Given the description of an element on the screen output the (x, y) to click on. 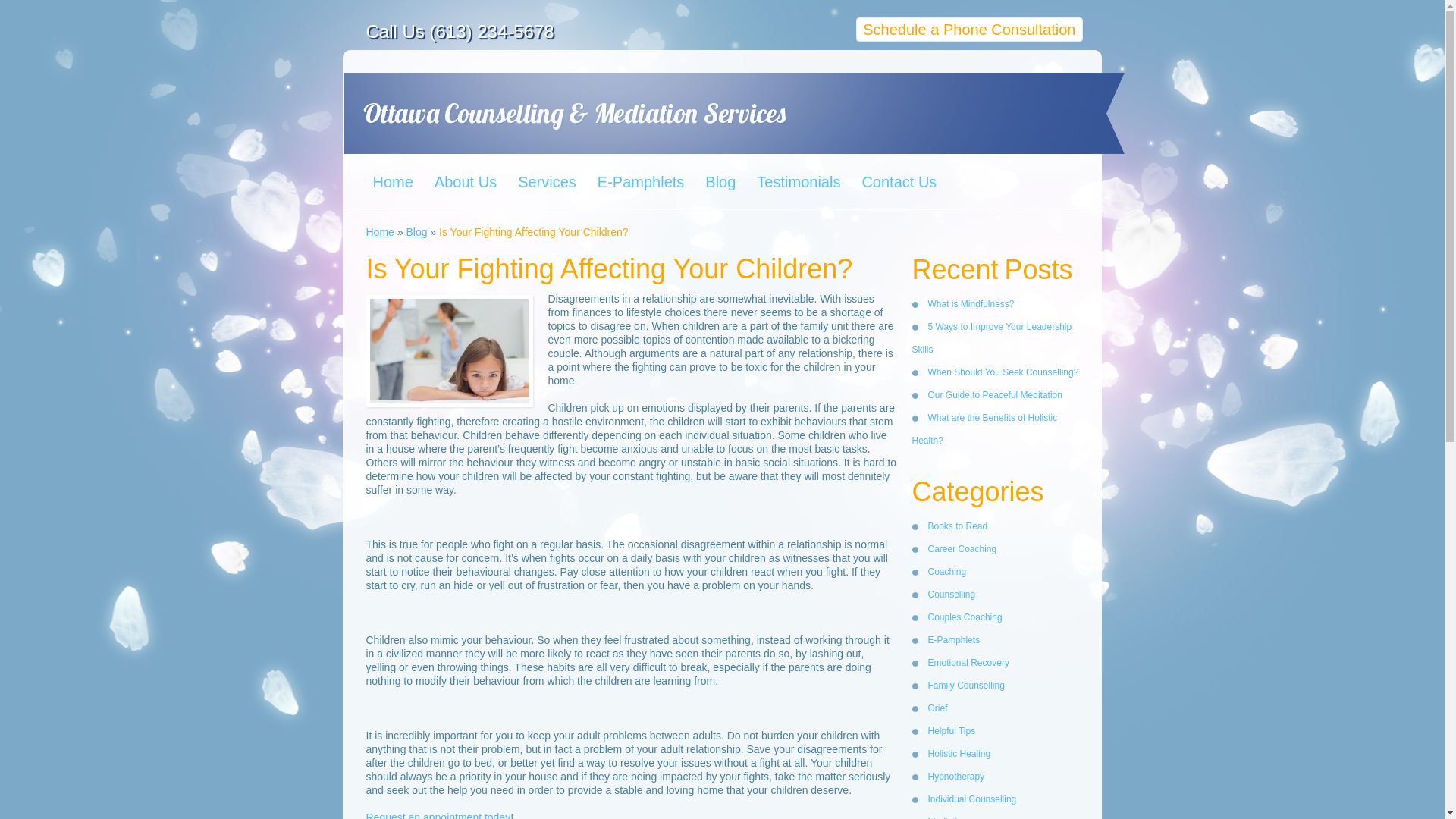
Request an appointment today (438, 815)
Services (545, 181)
About Us (463, 181)
Blog (416, 232)
Schedule a Phone Consultation (968, 29)
Home (379, 232)
Blog (718, 181)
Testimonials (796, 181)
Contact Us (896, 181)
Home (391, 181)
E-Pamphlets (638, 181)
